Given the description of an element on the screen output the (x, y) to click on. 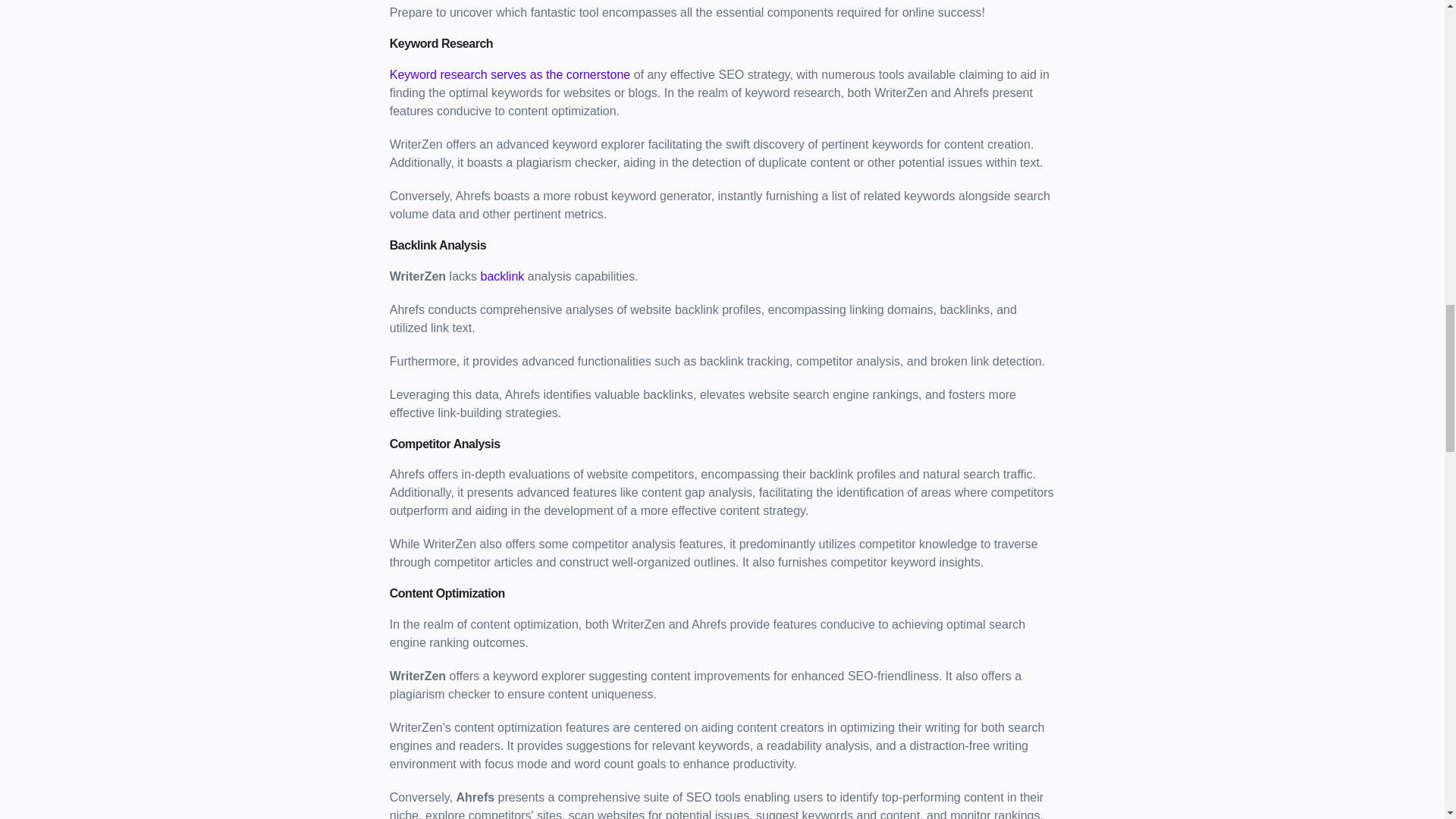
Keyword research serves as the cornerstone (510, 74)
backlink (502, 276)
